Given the description of an element on the screen output the (x, y) to click on. 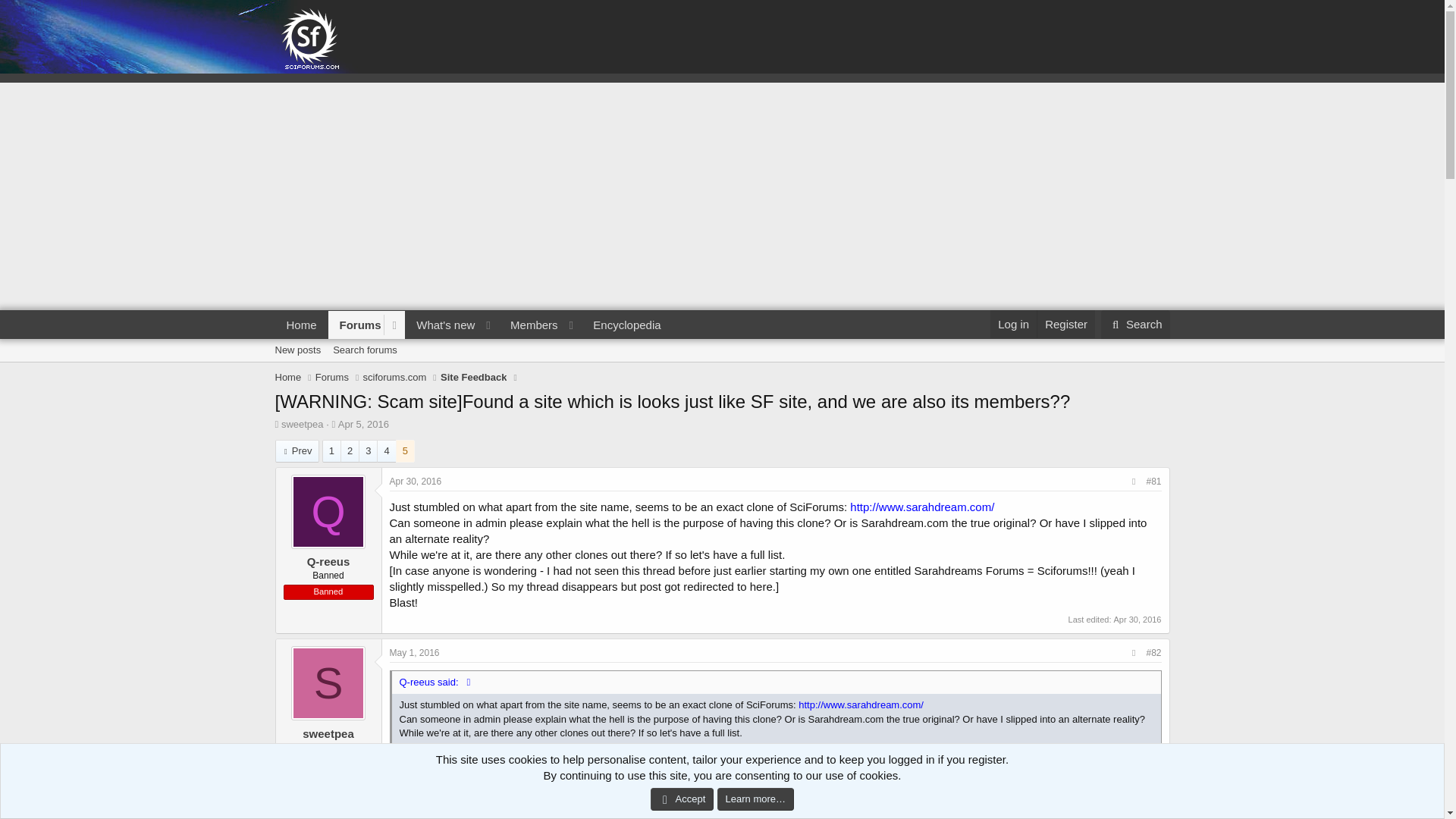
Search (1135, 324)
Apr 5, 2016 (362, 423)
sciforums.com (394, 377)
New posts (296, 350)
Site Feedback (473, 377)
What's new (440, 325)
May 1, 2016 at 7:10 PM (414, 652)
Apr 30, 2016 at 1:21 PM (472, 325)
